Given the description of an element on the screen output the (x, y) to click on. 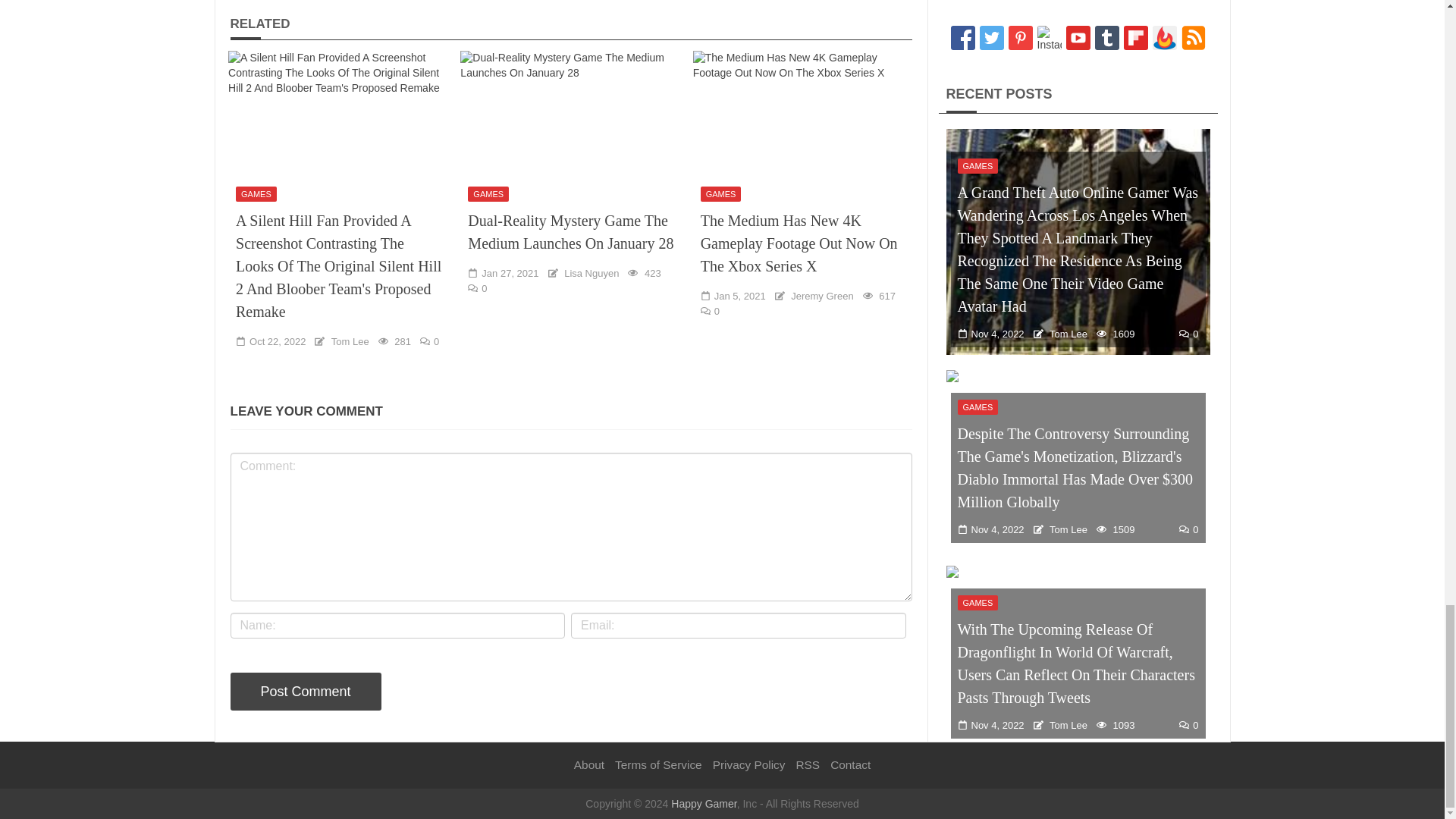
Post Comment (305, 691)
